Given the description of an element on the screen output the (x, y) to click on. 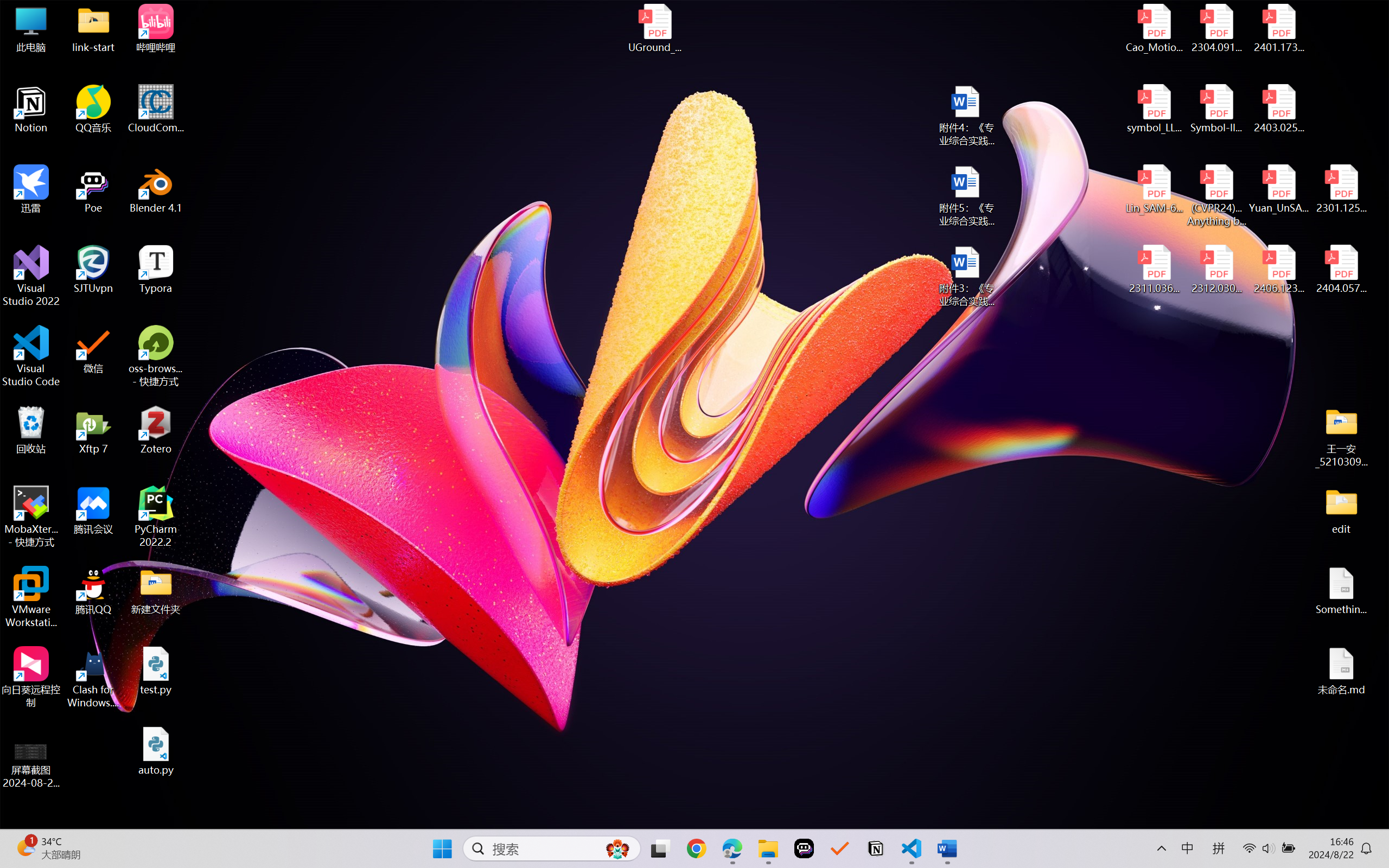
Xftp 7 (93, 430)
Typora (156, 269)
2312.03032v2.pdf (1216, 269)
2403.02502v1.pdf (1278, 109)
2401.17399v1.pdf (1278, 28)
SJTUvpn (93, 269)
